Given the description of an element on the screen output the (x, y) to click on. 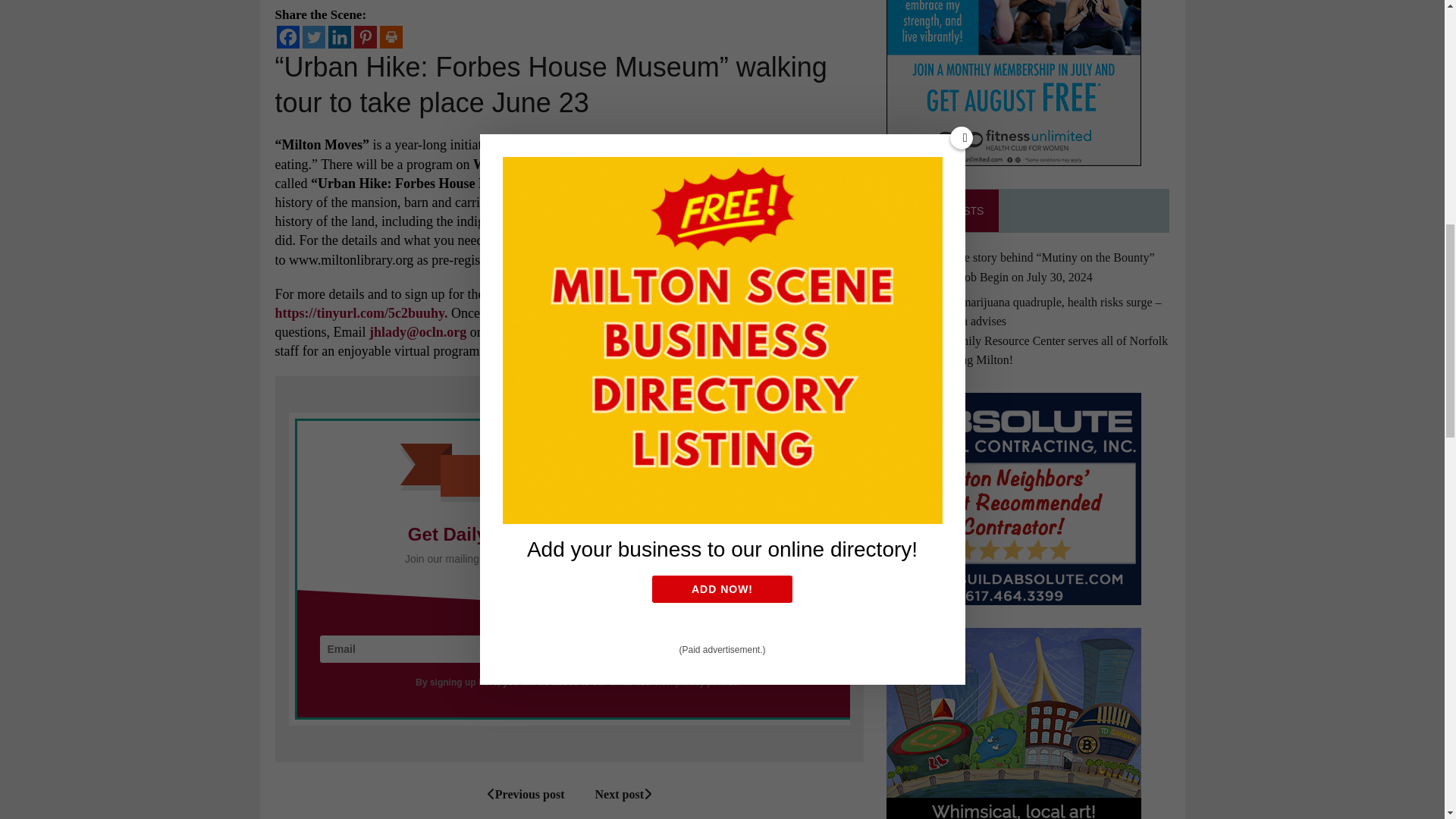
Linkedin (338, 36)
Pinterest (364, 36)
Print (389, 36)
Twitter (312, 36)
Facebook (287, 36)
